Given the description of an element on the screen output the (x, y) to click on. 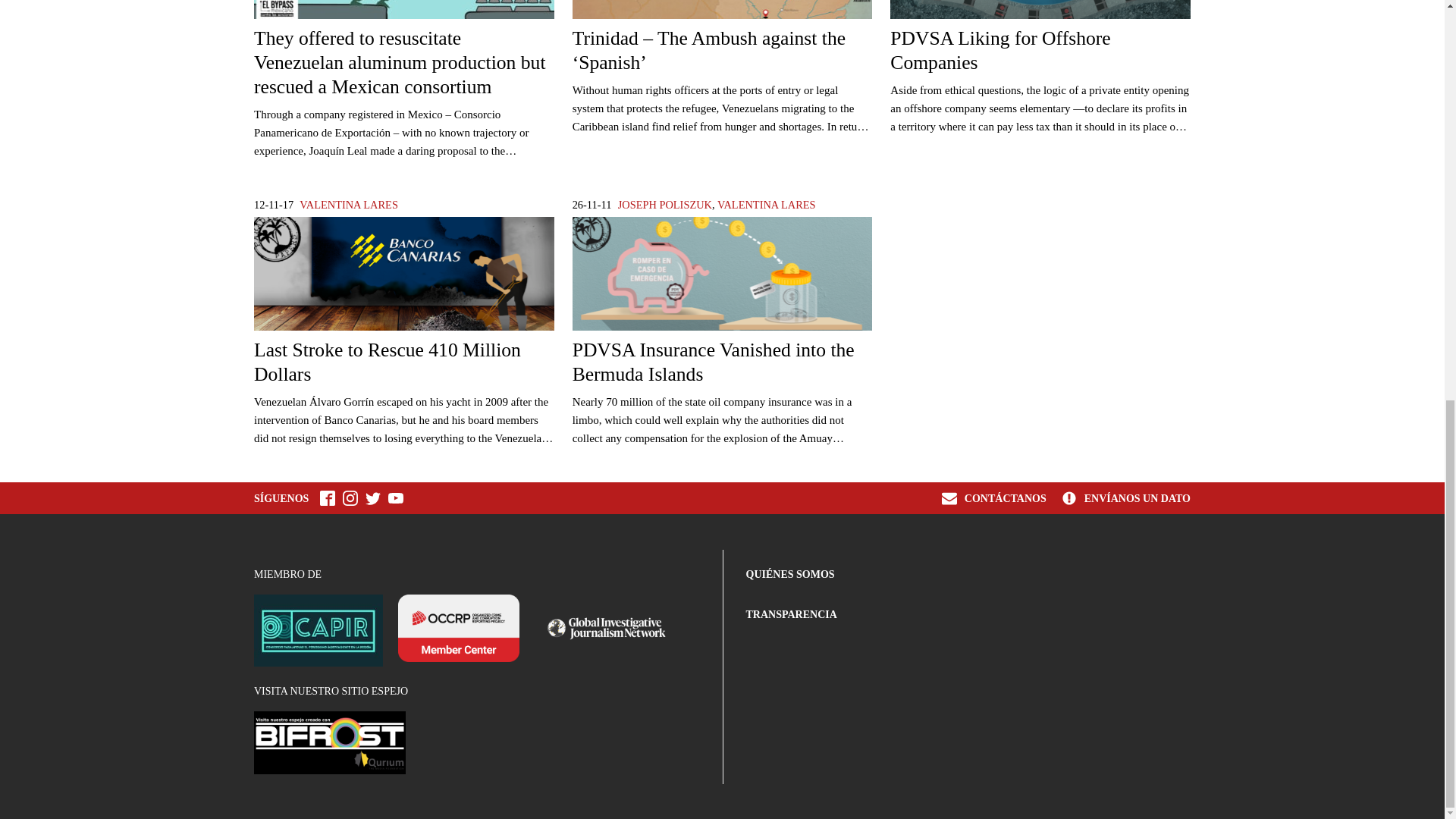
Last Stroke to Rescue 410 Million Dollars (403, 301)
JOSEPH POLISZUK (664, 204)
PDVSA Liking for Offshore Companies (1040, 37)
VALENTINA LARES (348, 204)
PDVSA Insurance Vanished into the Bermuda Islands (722, 301)
VALENTINA LARES (766, 204)
